Given the description of an element on the screen output the (x, y) to click on. 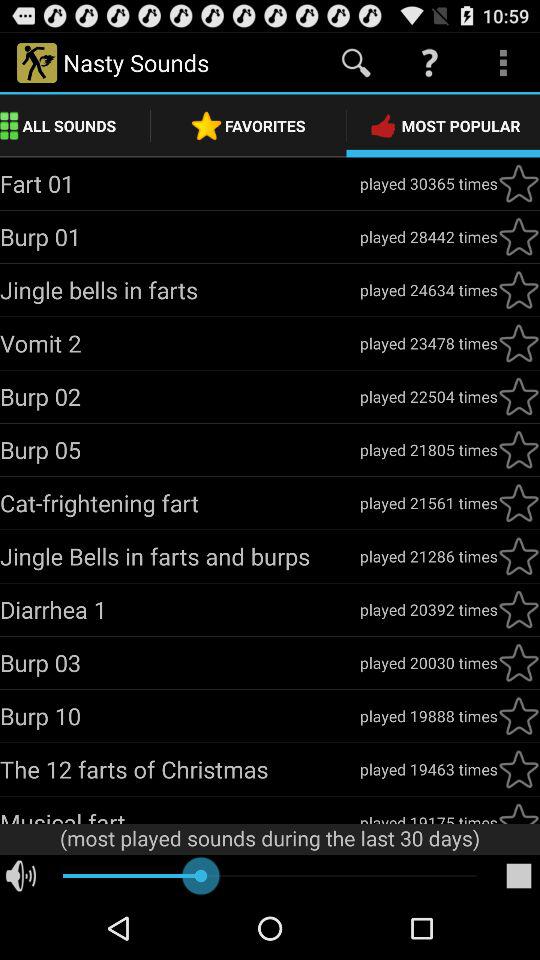
favorite (519, 290)
